Given the description of an element on the screen output the (x, y) to click on. 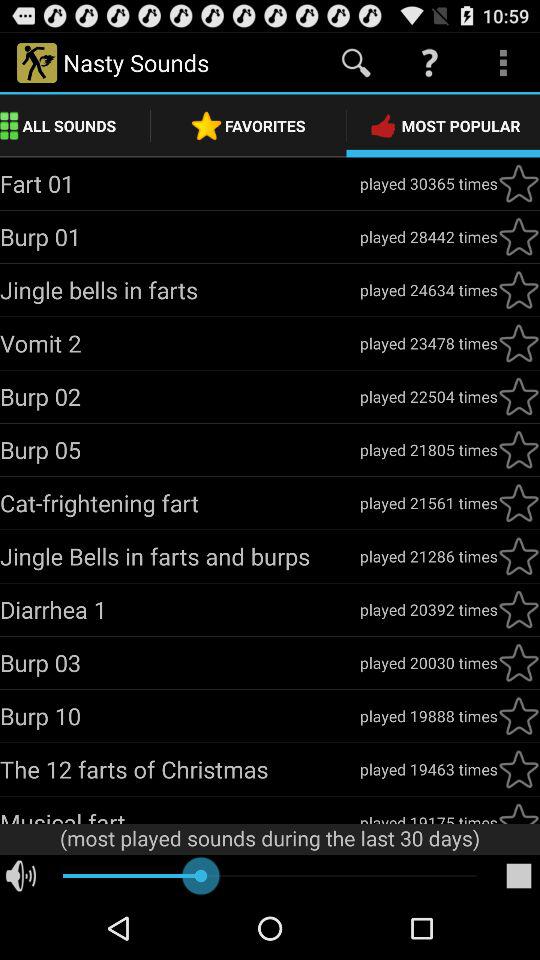
favorite (519, 290)
